Given the description of an element on the screen output the (x, y) to click on. 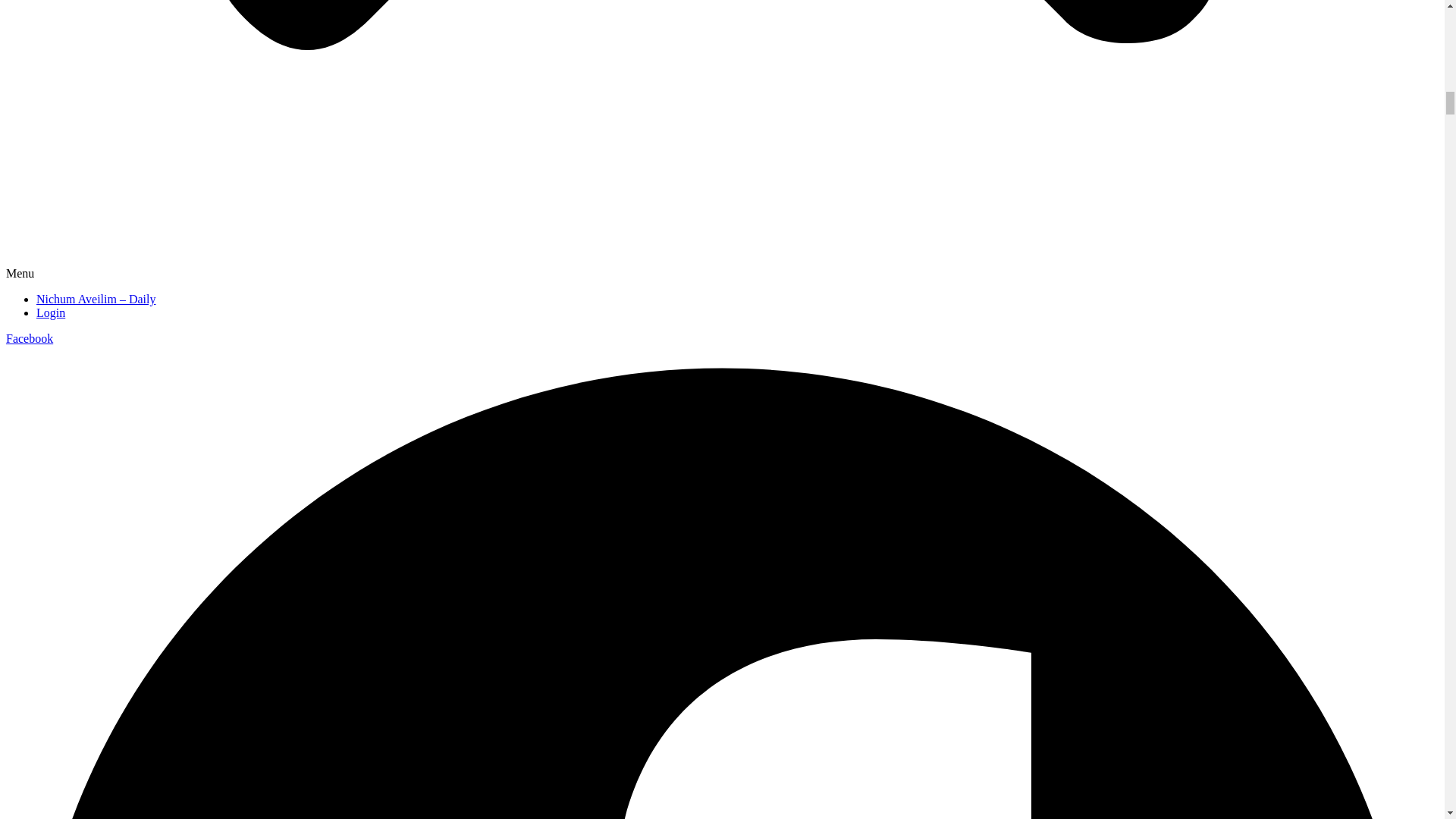
Login (50, 312)
